Given the description of an element on the screen output the (x, y) to click on. 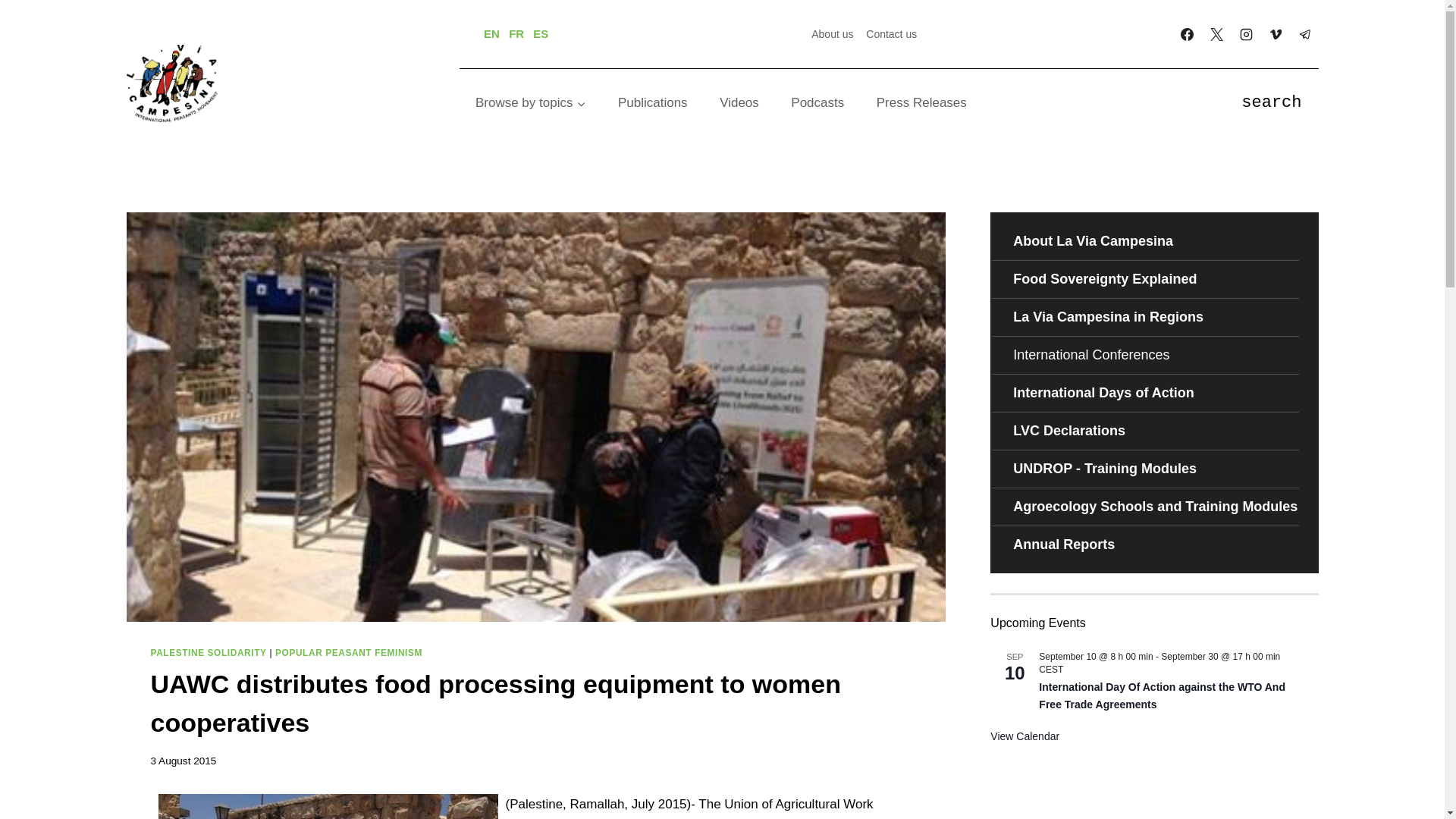
Contact us (891, 33)
EN (491, 33)
ES (540, 33)
POPULAR PEASANT FEMINISM (348, 652)
PALESTINE SOLIDARITY (207, 652)
About us (832, 33)
Videos (738, 103)
Press Releases (921, 103)
FR (516, 33)
View more events. (1024, 736)
Browse by topics (531, 103)
Podcasts (817, 103)
Publications (652, 103)
search (1270, 102)
